Given the description of an element on the screen output the (x, y) to click on. 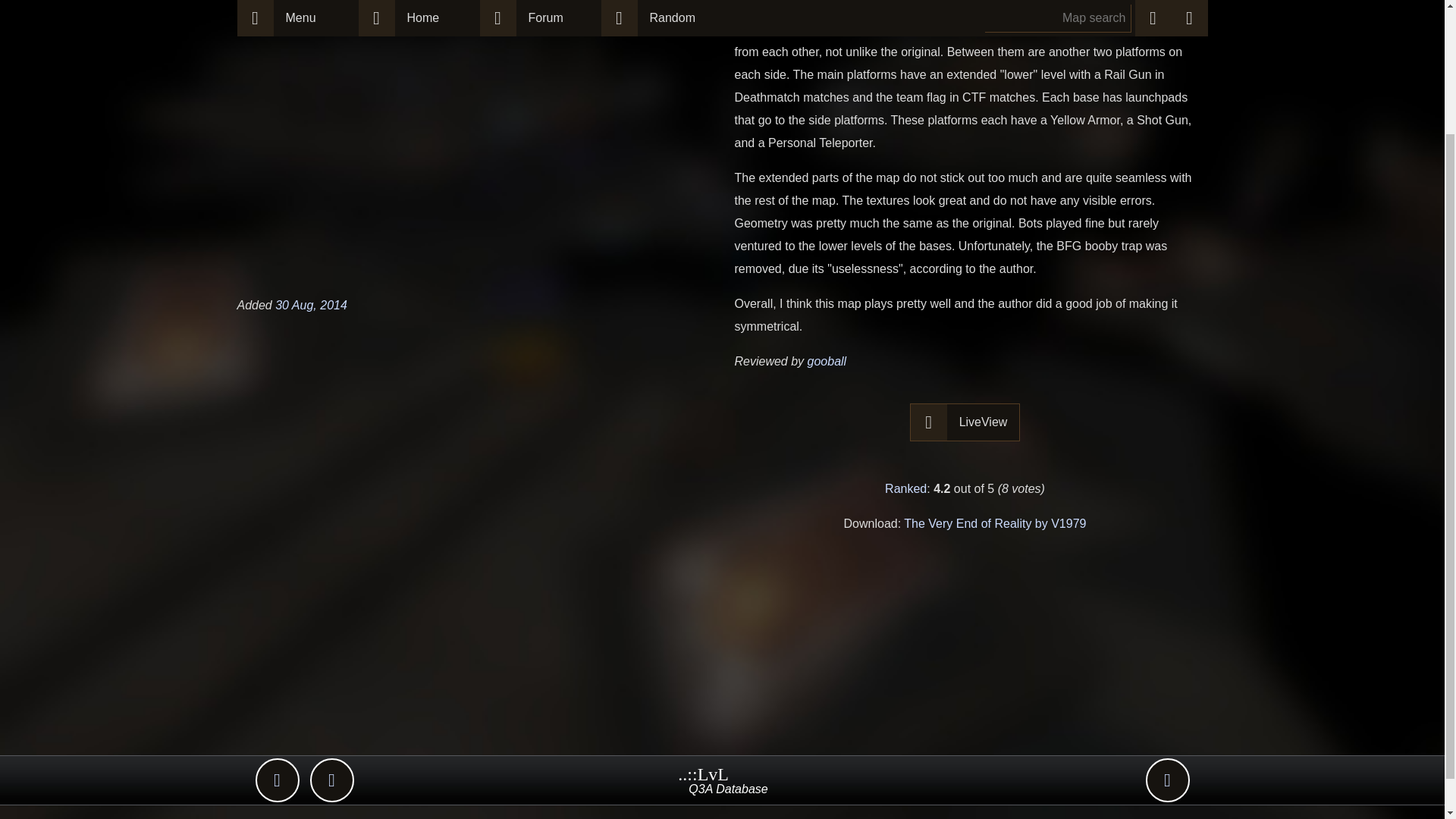
View this map in your browser (965, 422)
30 Aug, 2014 (311, 305)
LiveView (983, 422)
gooball (827, 360)
The Very End of Reality by V1979 (995, 522)
Ranked (905, 488)
